Given the description of an element on the screen output the (x, y) to click on. 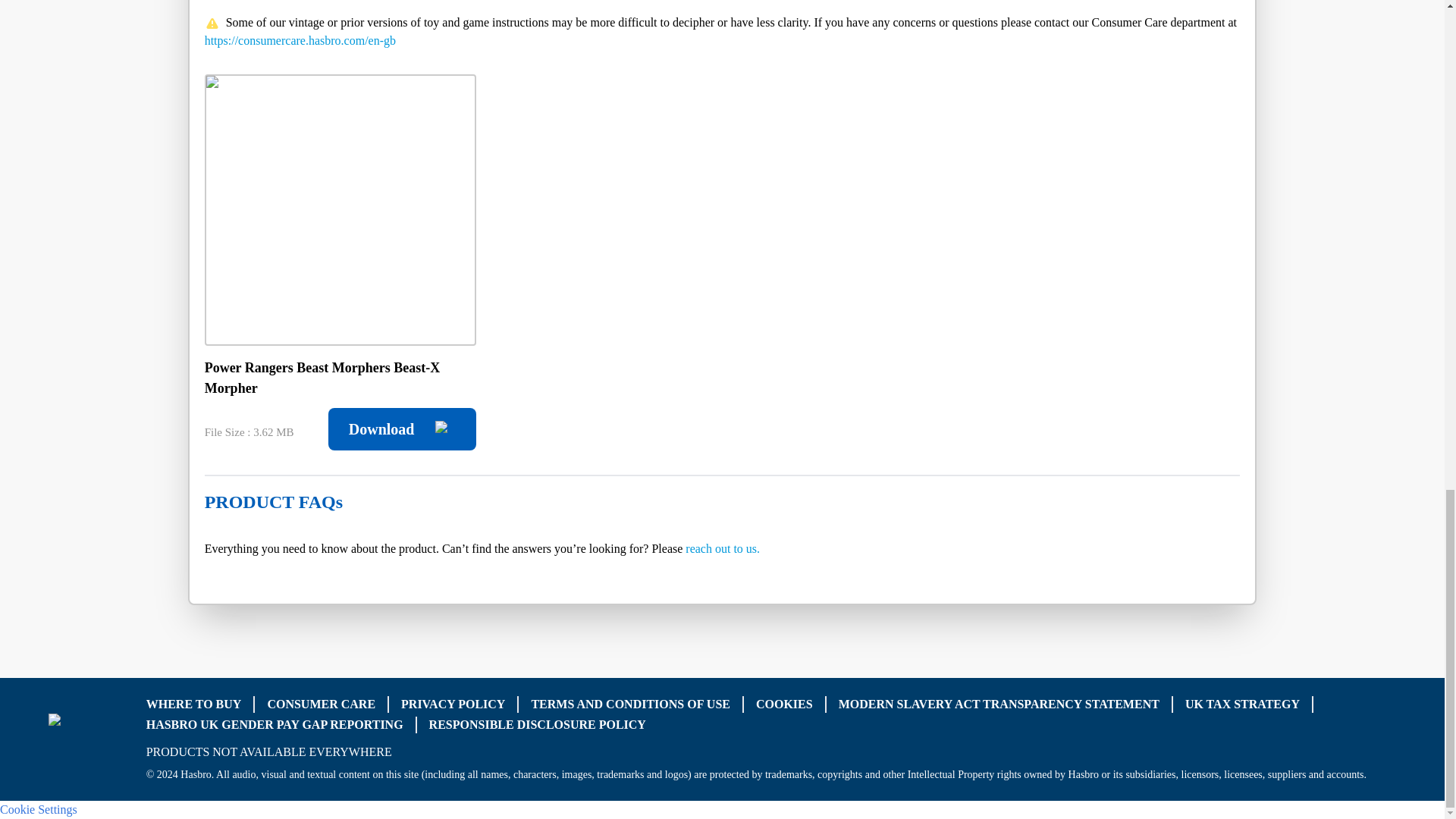
CONSUMER CARE (320, 703)
reach out to us. (722, 548)
Cookie Settings (38, 809)
HASBRO UK GENDER PAY GAP REPORTING (275, 724)
TERMS AND CONDITIONS OF USE (630, 703)
MODERN SLAVERY ACT TRANSPARENCY STATEMENT (998, 703)
PRIVACY POLICY (453, 703)
RESPONSIBLE DISCLOSURE POLICY (537, 724)
UK TAX STRATEGY (1242, 703)
COOKIES (783, 703)
WHERE TO BUY (194, 703)
Download (402, 428)
